Given the description of an element on the screen output the (x, y) to click on. 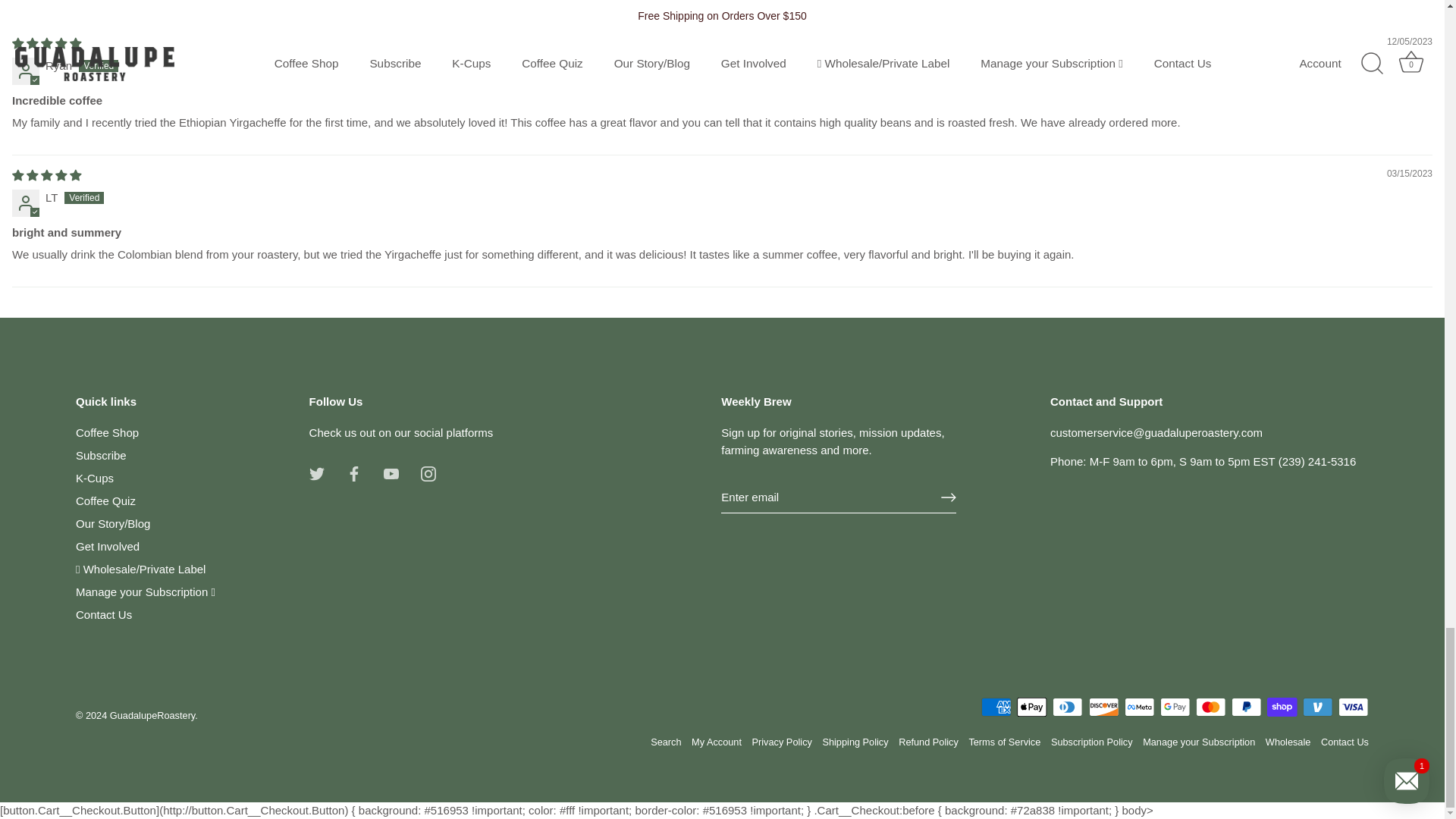
Twitter (316, 473)
RIGHT ARROW LONG (948, 497)
Discover (1104, 706)
tel:239415316  (1317, 461)
Google Pay (1174, 706)
Mastercard (1210, 706)
Meta Pay (1139, 706)
Shop Pay (1281, 706)
Visa (1353, 706)
Venmo (1317, 706)
Diners Club (1067, 706)
PayPal (1245, 706)
Youtube (391, 473)
Apple Pay (1031, 706)
American Express (996, 706)
